Given the description of an element on the screen output the (x, y) to click on. 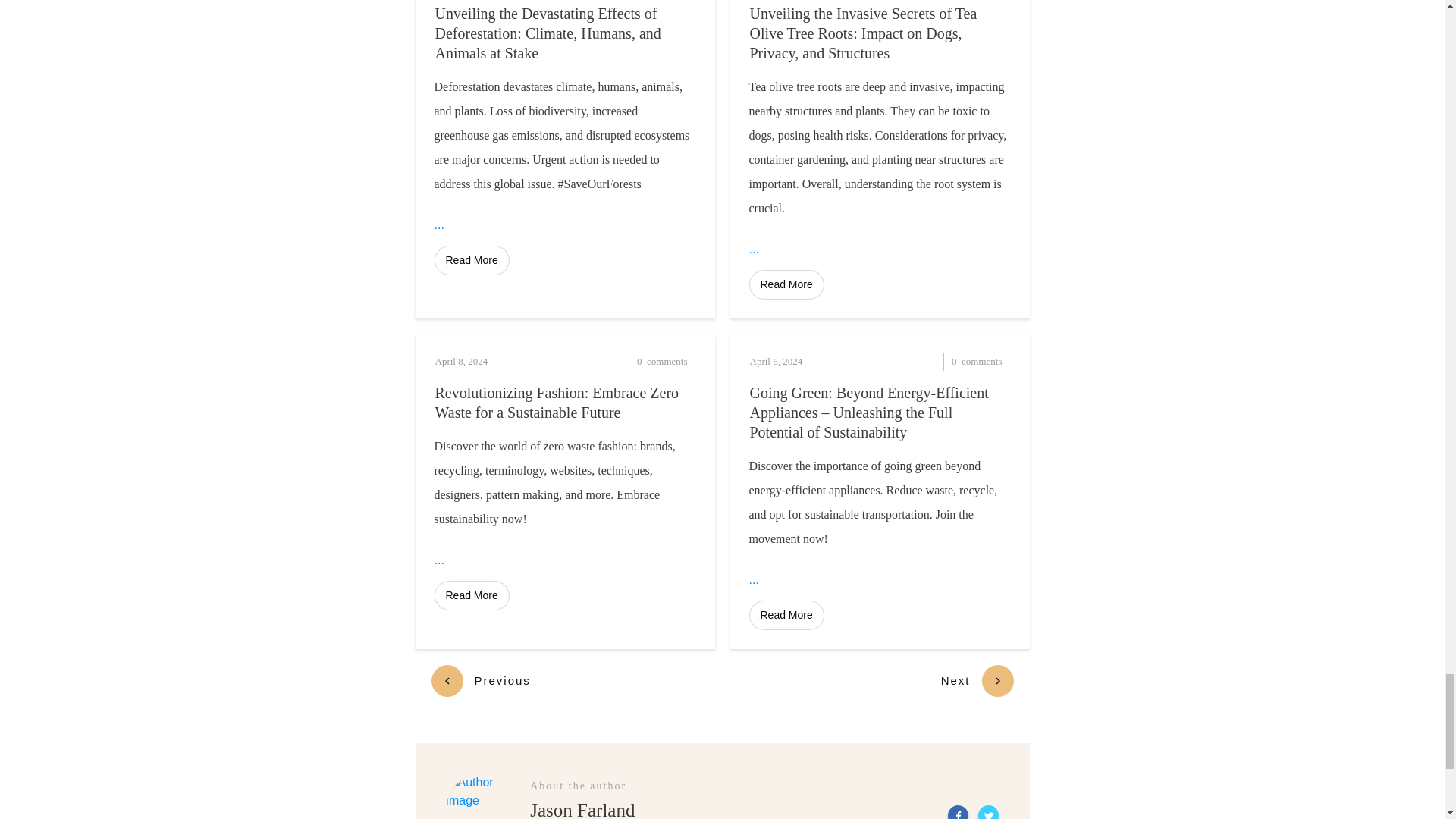
Read More (786, 284)
Read More (470, 260)
0  comments (632, 361)
